Given the description of an element on the screen output the (x, y) to click on. 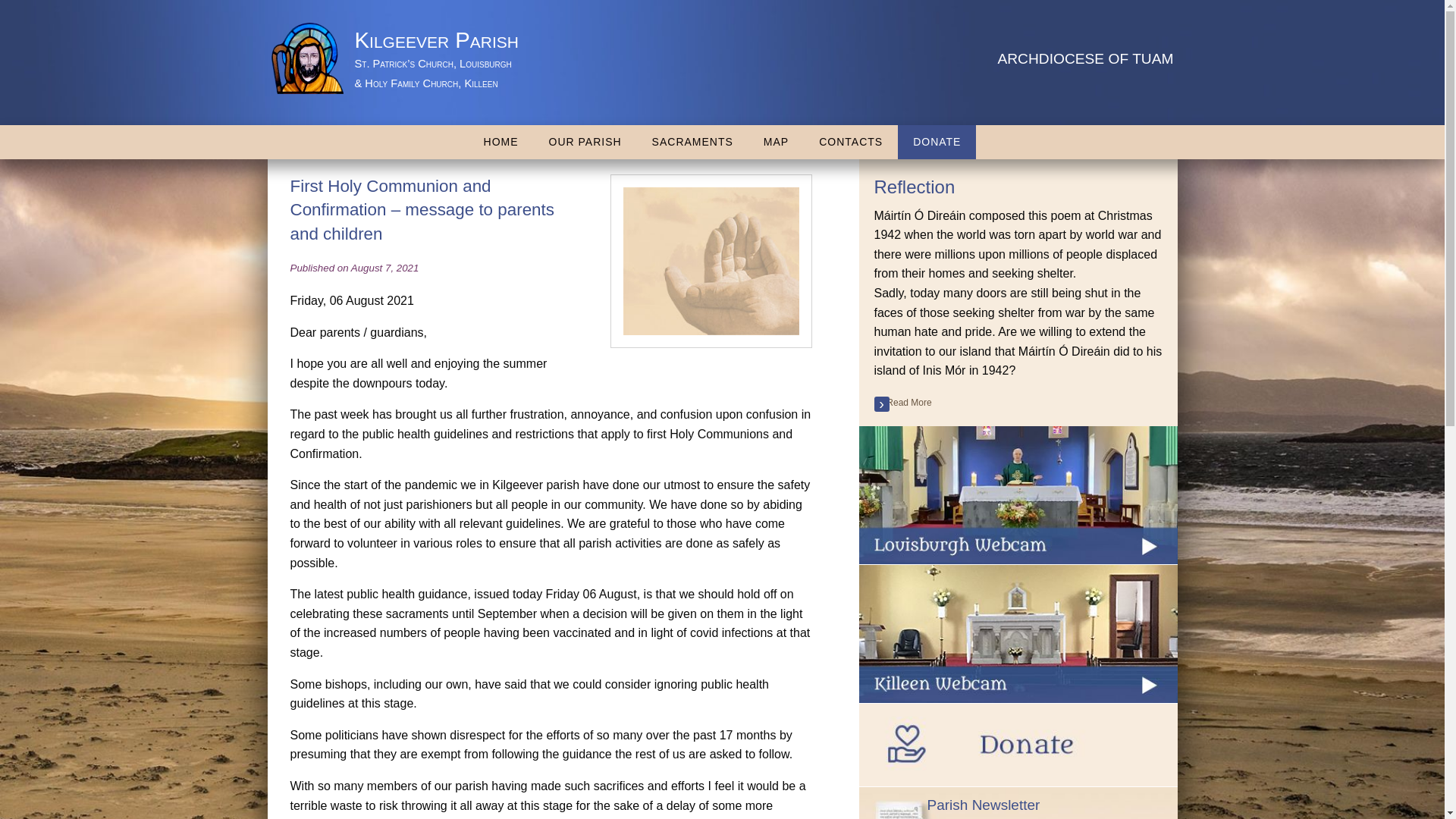
HOME (501, 141)
MAP (775, 141)
DONATE (936, 141)
SACRAMENTS (692, 141)
CONTACTS (850, 141)
OUR PARISH (585, 141)
